Given the description of an element on the screen output the (x, y) to click on. 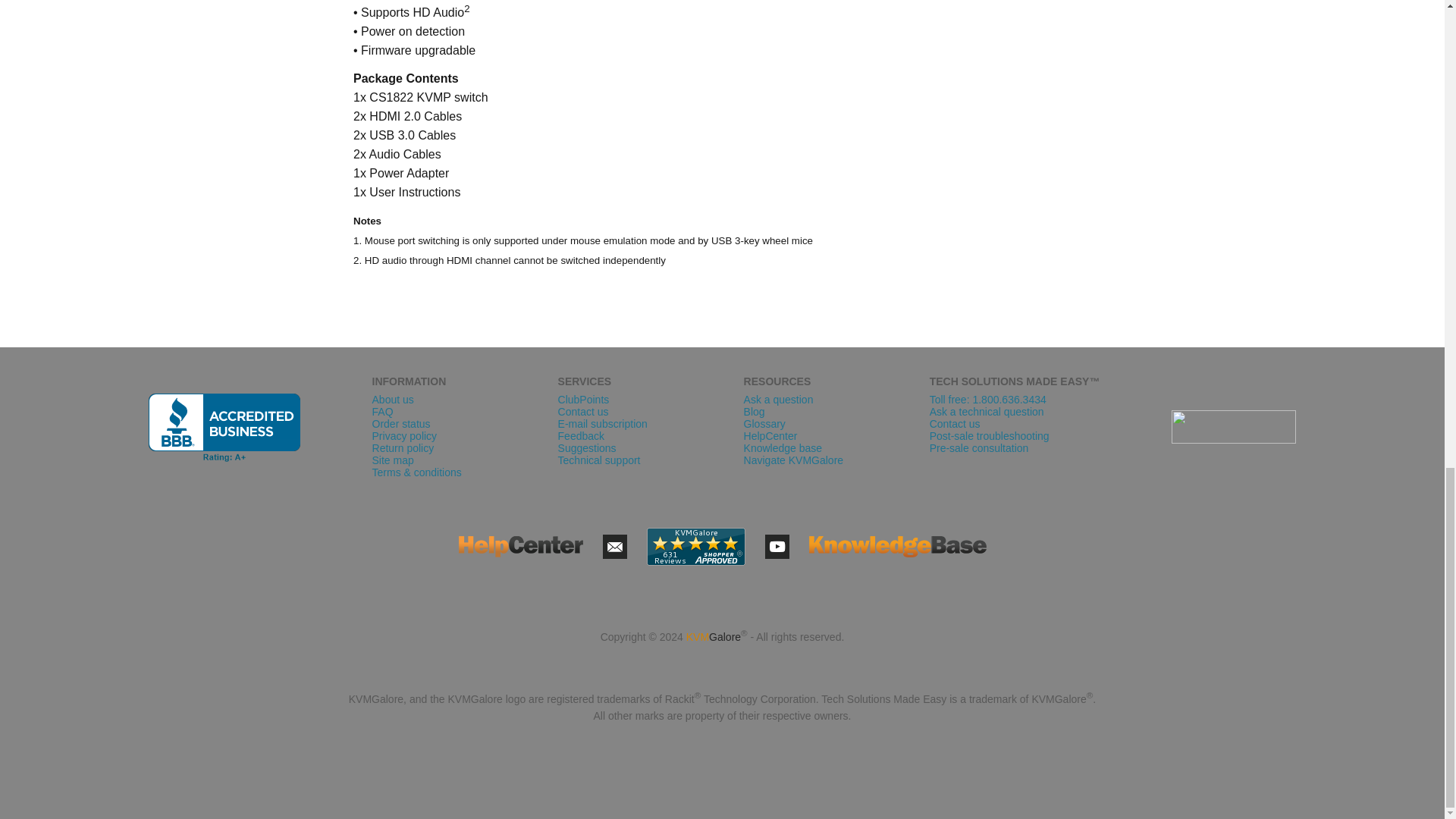
 Knowledge Base  (896, 546)
 Contact us  (614, 546)
 HelpCenter  (520, 546)
 YouTube  (776, 546)
